Given the description of an element on the screen output the (x, y) to click on. 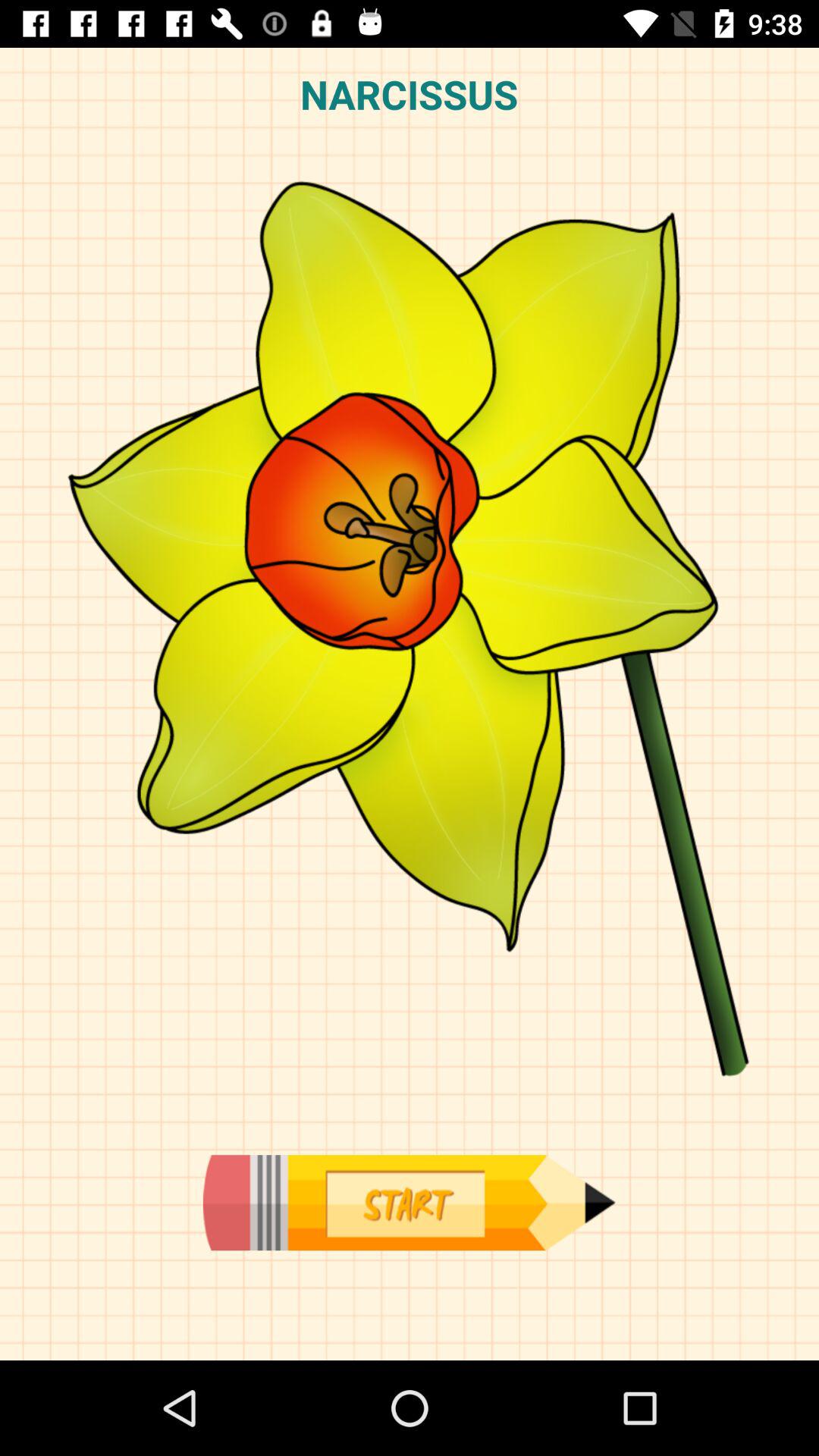
start button (409, 1202)
